Given the description of an element on the screen output the (x, y) to click on. 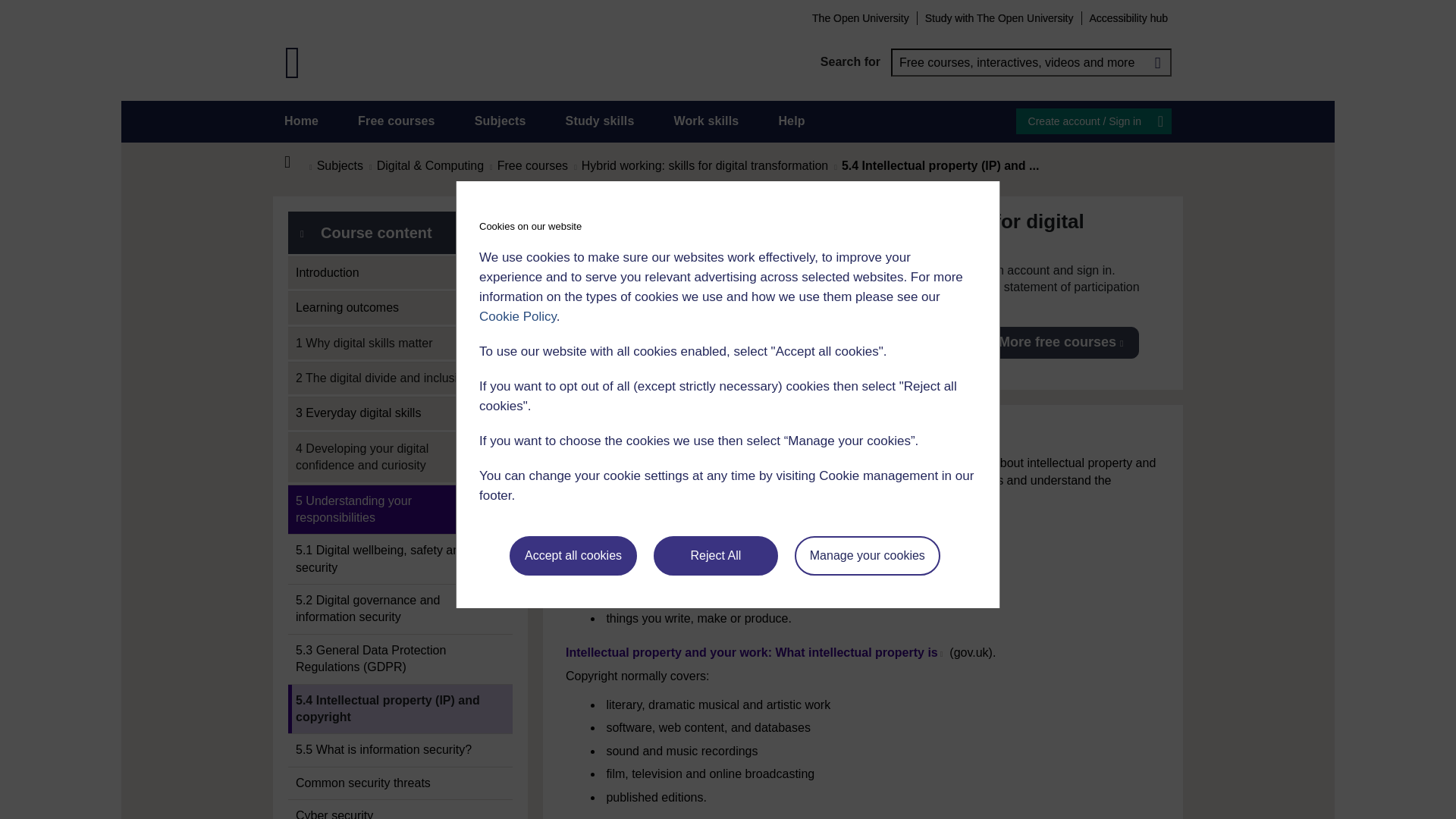
Search (1157, 62)
Study with The Open University (999, 17)
Help (791, 120)
Work skills (705, 120)
The Open University (860, 17)
Accessibility hub (1129, 17)
Subjects (499, 120)
Home (295, 162)
Study skills (600, 120)
Reject All (715, 555)
Cookie Policy (517, 316)
Accept all cookies (573, 555)
Manage your cookies (867, 555)
Home (300, 120)
Free courses (396, 120)
